Given the description of an element on the screen output the (x, y) to click on. 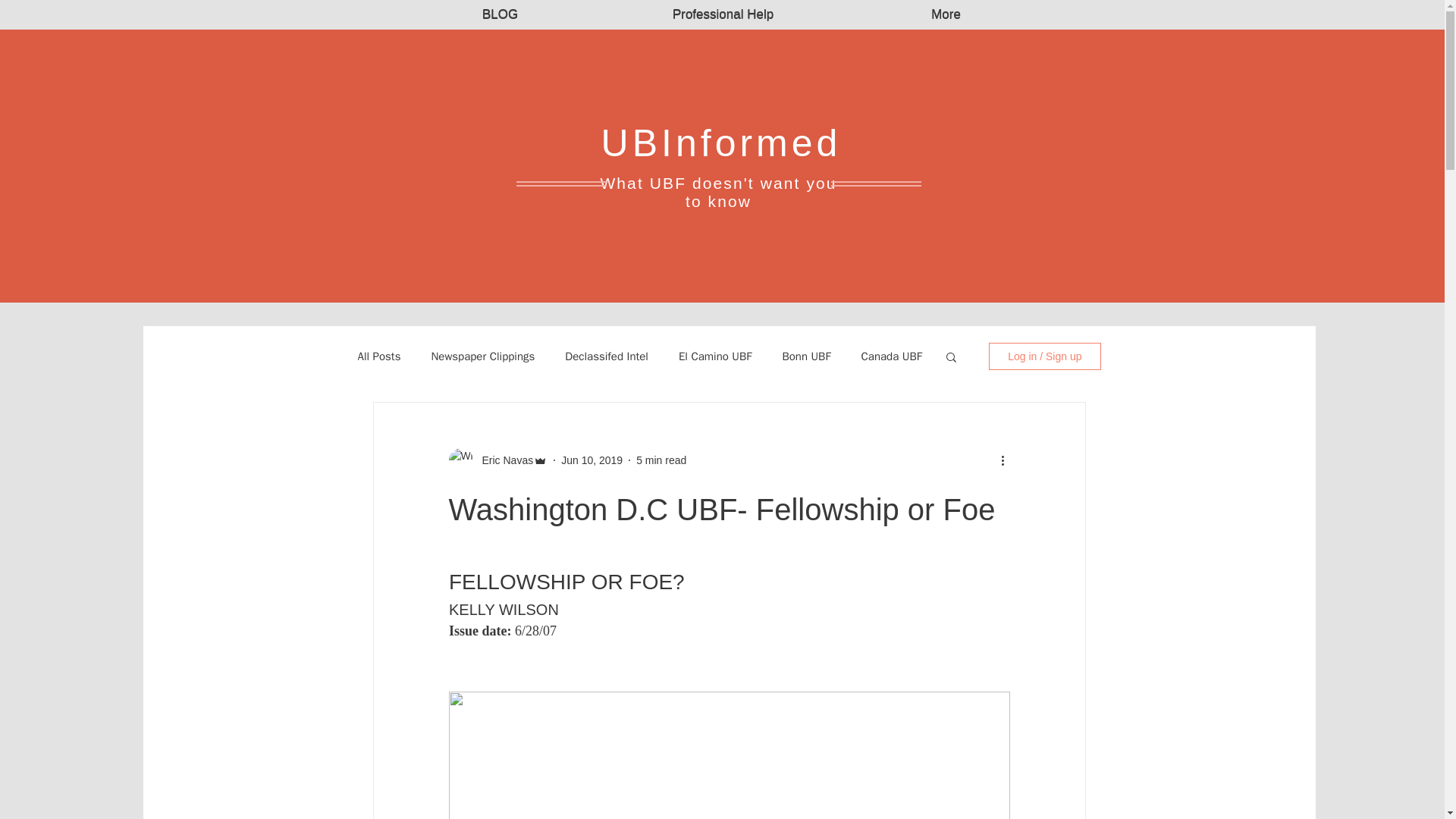
What UBF doesn't want you to know (717, 191)
Newspaper Clippings (482, 355)
Canada UBF (891, 355)
El Camino UBF (714, 355)
Professional Help (722, 15)
Professional Help (722, 14)
Bonn UBF (805, 355)
BLOG (499, 15)
5 min read (660, 459)
Declassifed Intel (605, 355)
Jun 10, 2019 (591, 459)
BLOG (499, 14)
Eric Navas (503, 459)
All Posts (379, 355)
UBInformed (721, 143)
